Given the description of an element on the screen output the (x, y) to click on. 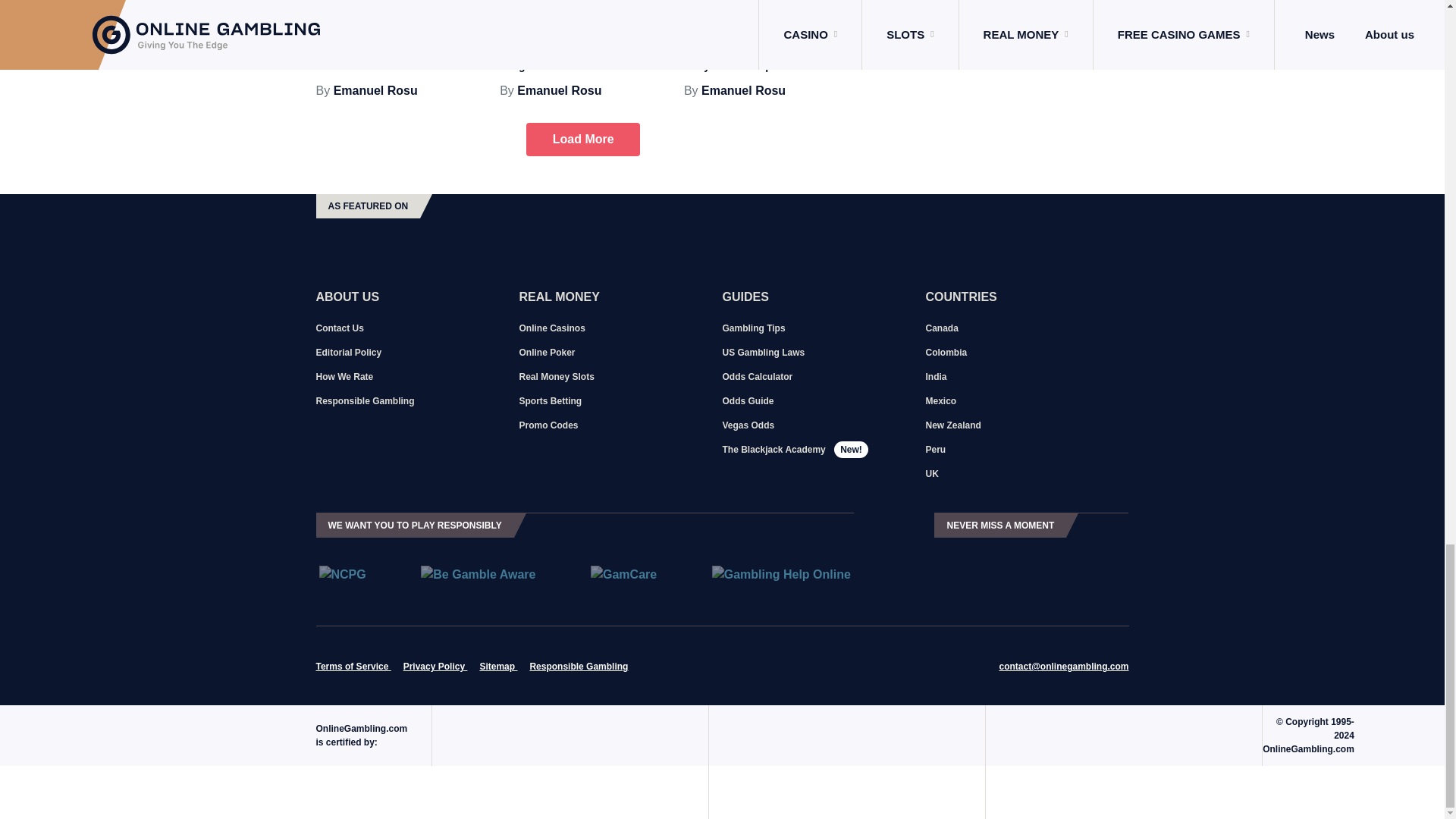
Champions League (802, 5)
Champions League (617, 5)
Champions League (432, 5)
